Given the description of an element on the screen output the (x, y) to click on. 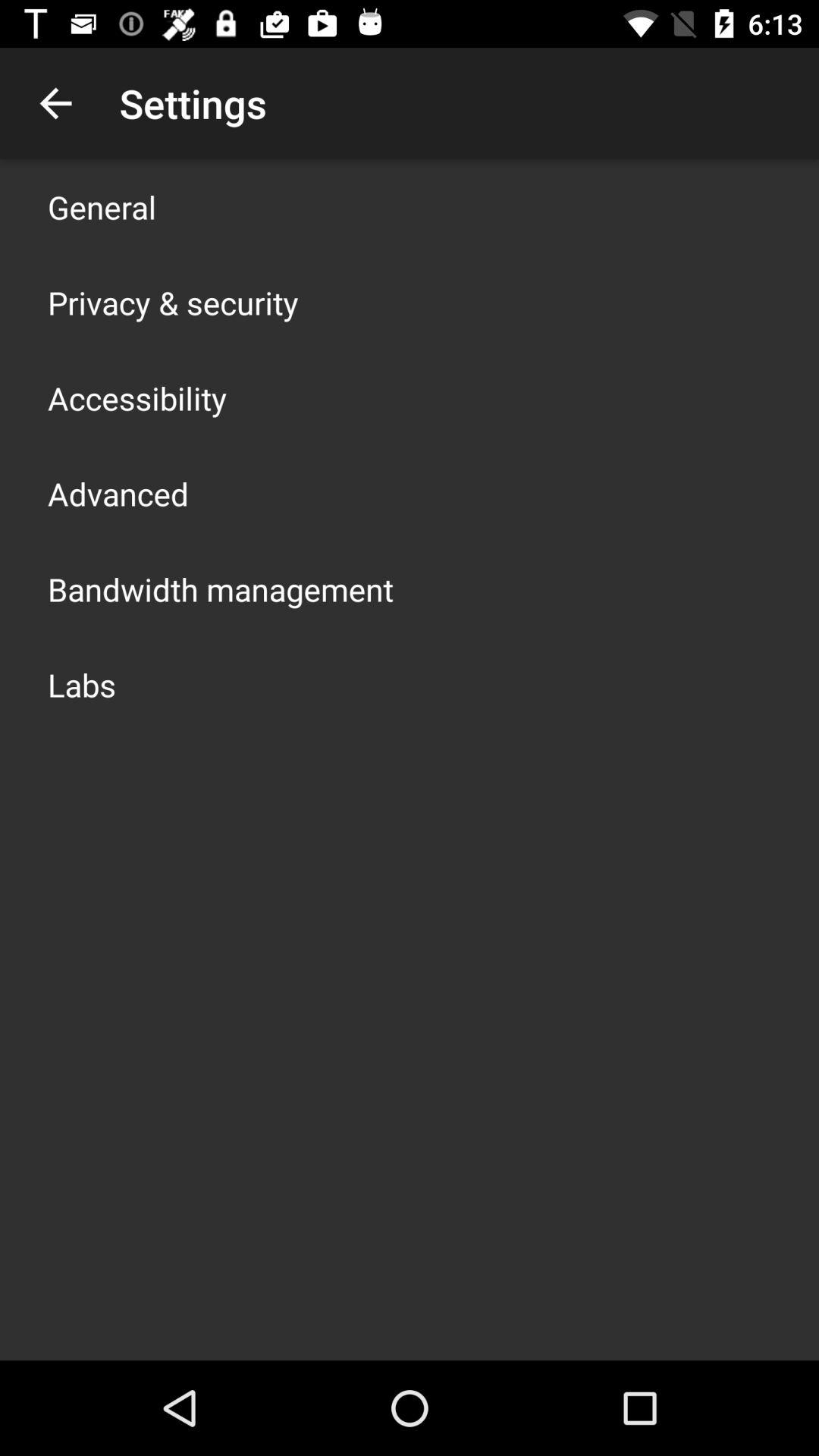
press app to the left of the settings (55, 103)
